Given the description of an element on the screen output the (x, y) to click on. 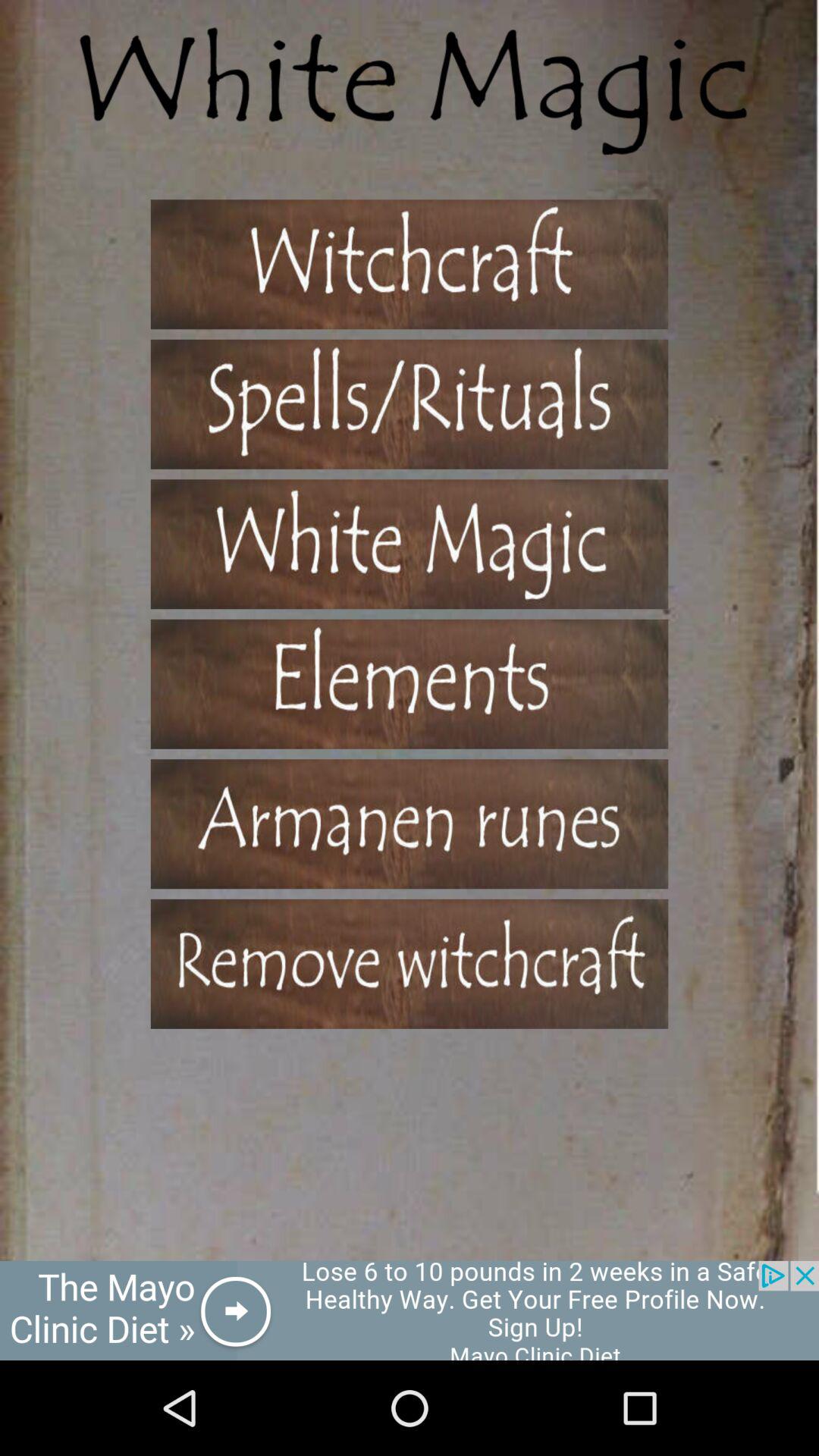
select white magic (409, 544)
